Given the description of an element on the screen output the (x, y) to click on. 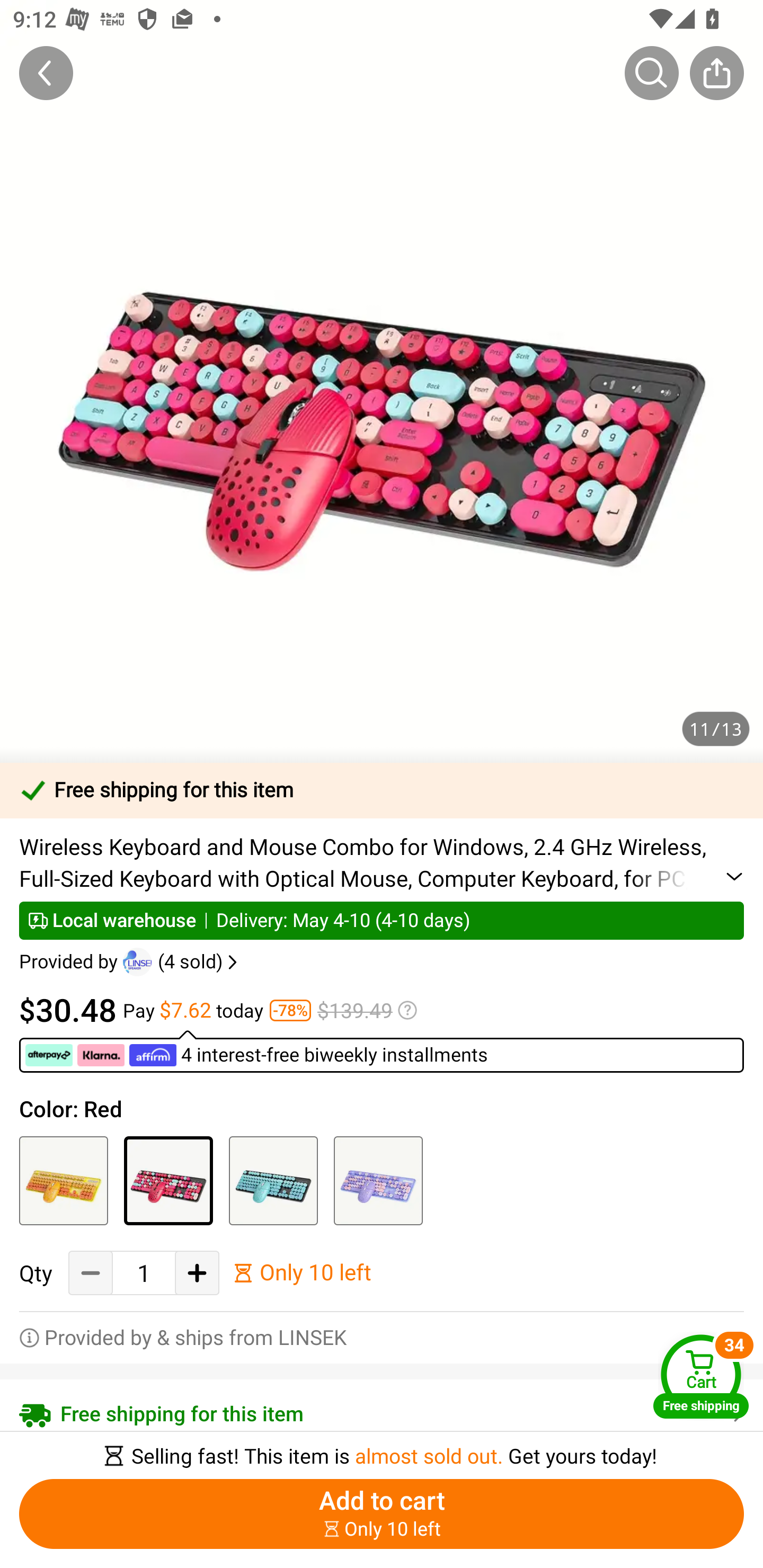
Back (46, 72)
Share (716, 72)
Free shipping for this item (381, 790)
Local warehouse Delivery: May 4-10 (4-10 days) (381, 920)
By null(4 sold) Provided by  (4 sold) (130, 961)
Provided by  (70, 961)
￼ ￼ ￼ 4 interest-free biweekly installments (381, 1051)
￼ ￼ ￼ 4 interest-free biweekly installments (256, 1055)
Yellow (63, 1180)
Red (167, 1180)
Green (273, 1180)
Purple (378, 1180)
Decrease Quantity Button (90, 1273)
Add Quantity button (196, 1273)
1 (143, 1273)
Cart Free shipping Cart (701, 1375)
Add to cart ￼￼Only 10 left (381, 1513)
